Given the description of an element on the screen output the (x, y) to click on. 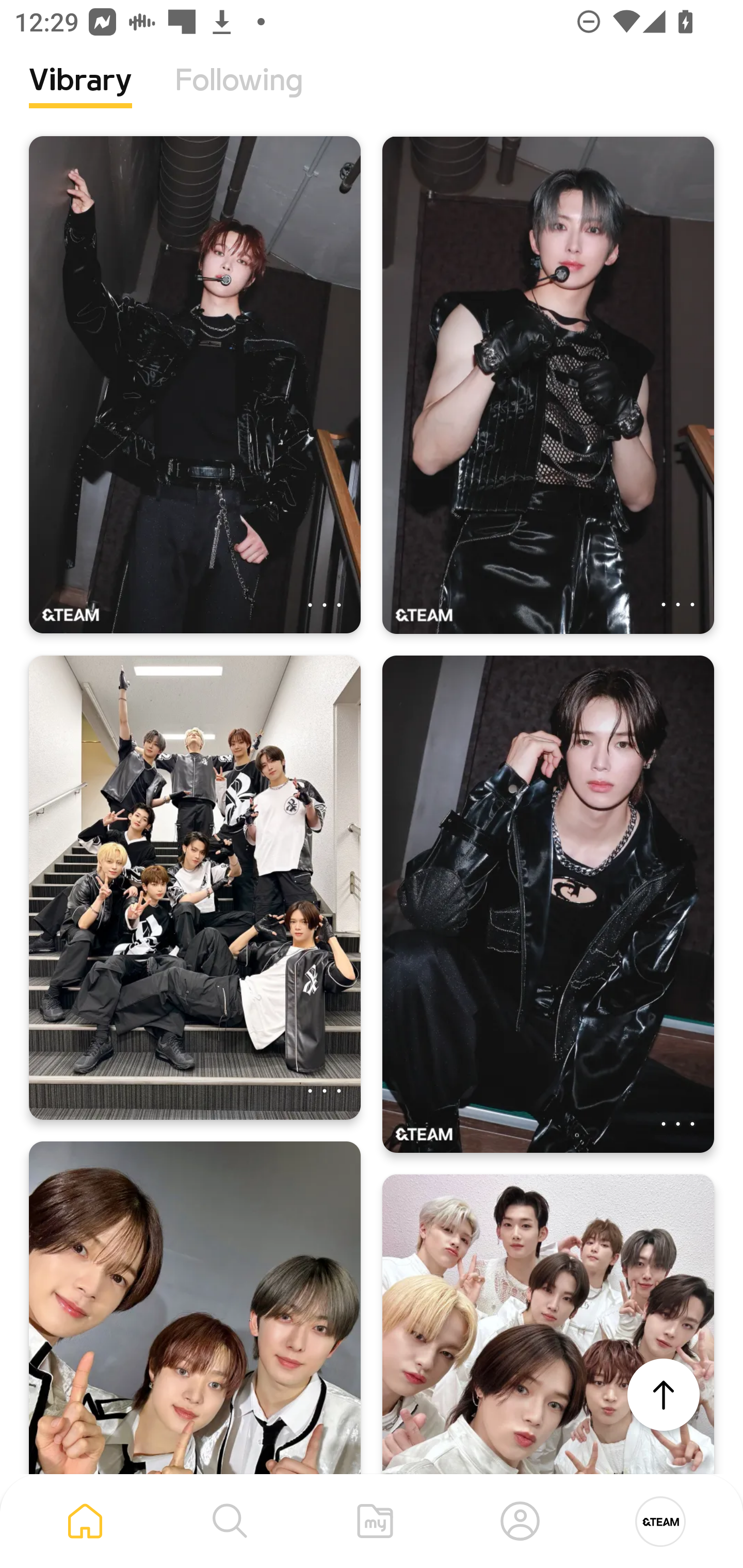
Vibrary (80, 95)
Following (239, 95)
